Given the description of an element on the screen output the (x, y) to click on. 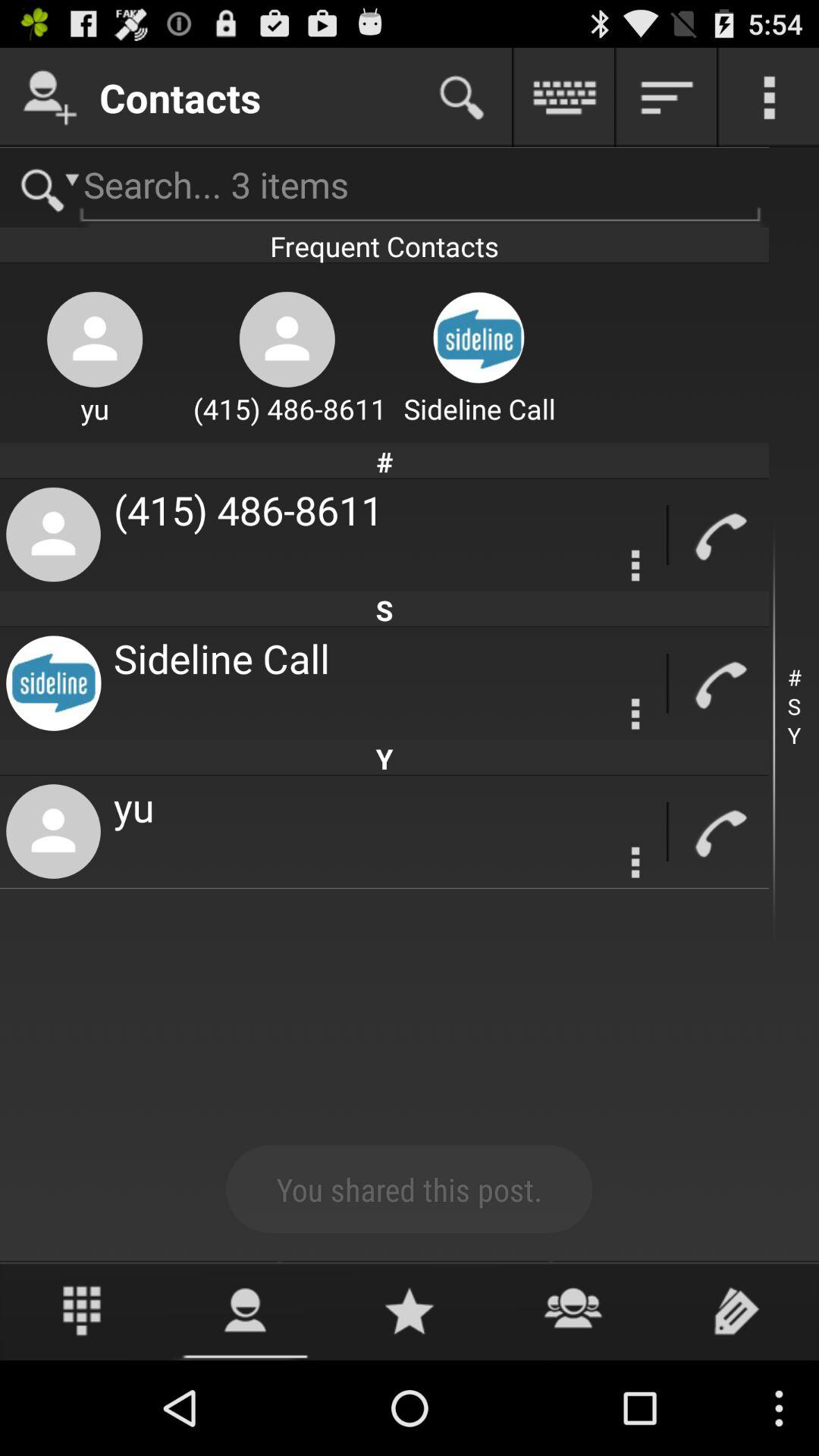
calling button (718, 683)
